Given the description of an element on the screen output the (x, y) to click on. 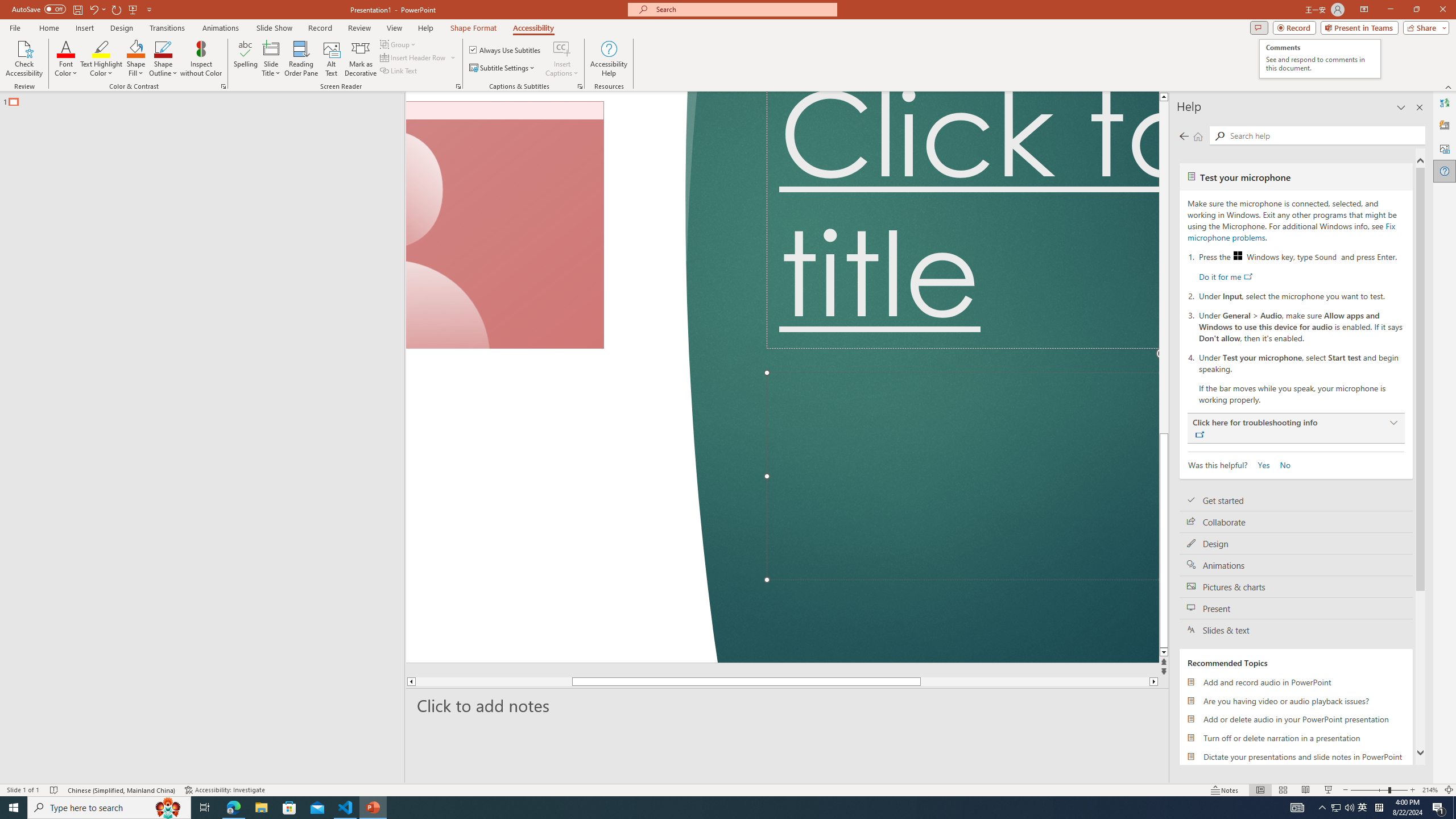
From Beginning (133, 9)
Slide Sorter (1282, 790)
Share (1423, 27)
Dictate your presentations and slide notes in PowerPoint (1295, 756)
Slide Title (271, 48)
Alt Text (331, 58)
Get started (1295, 500)
Add and record audio in PowerPoint (1295, 682)
Mark as Decorative (360, 58)
Yes (1260, 464)
Home (1198, 136)
Shape Fill Orange, Accent 2 (135, 48)
Title TextBox (962, 219)
